Given the description of an element on the screen output the (x, y) to click on. 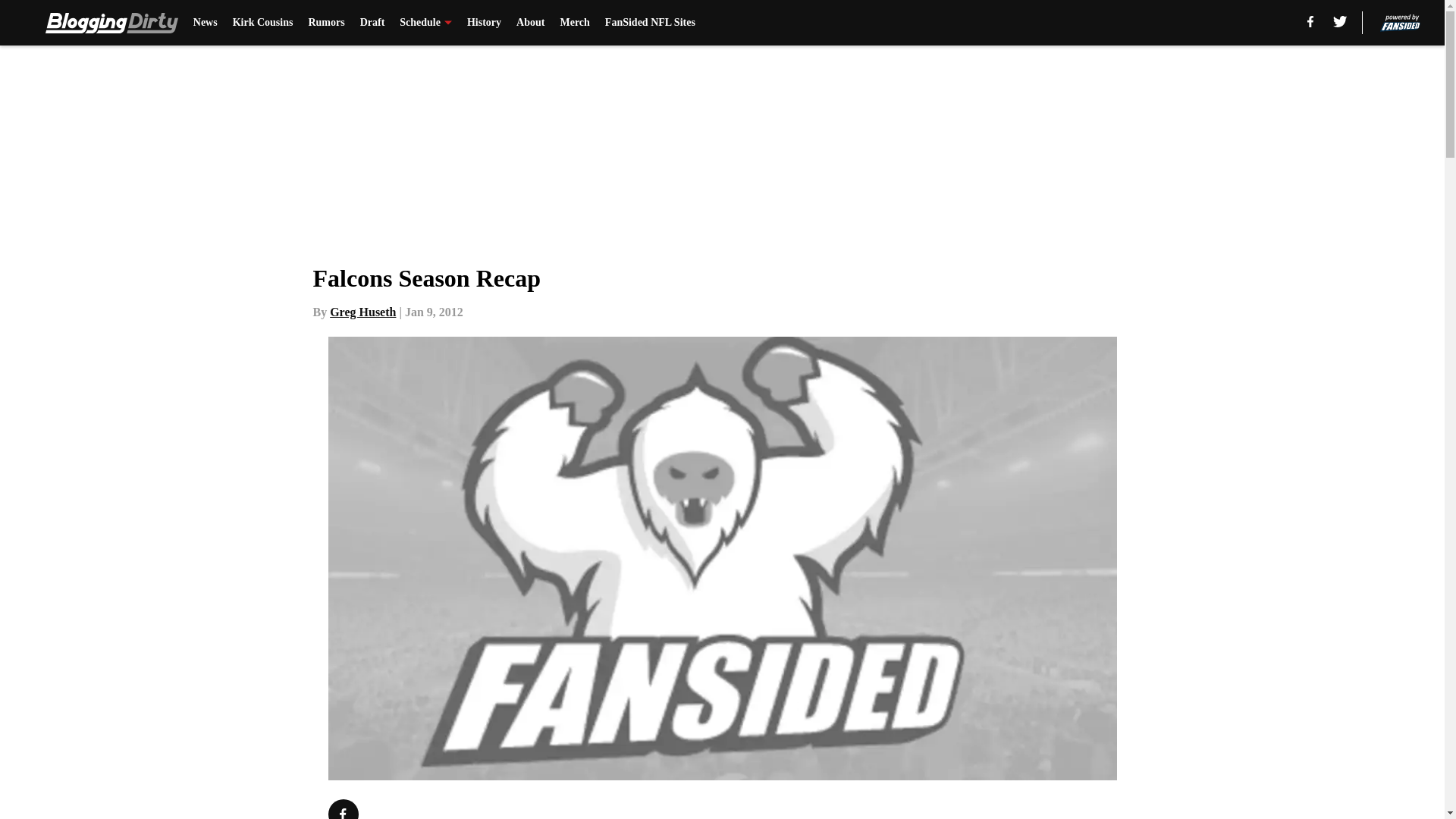
About (530, 22)
Greg Huseth (363, 311)
FanSided NFL Sites (650, 22)
News (204, 22)
Merch (574, 22)
History (483, 22)
Draft (372, 22)
Kirk Cousins (263, 22)
Rumors (325, 22)
